Given the description of an element on the screen output the (x, y) to click on. 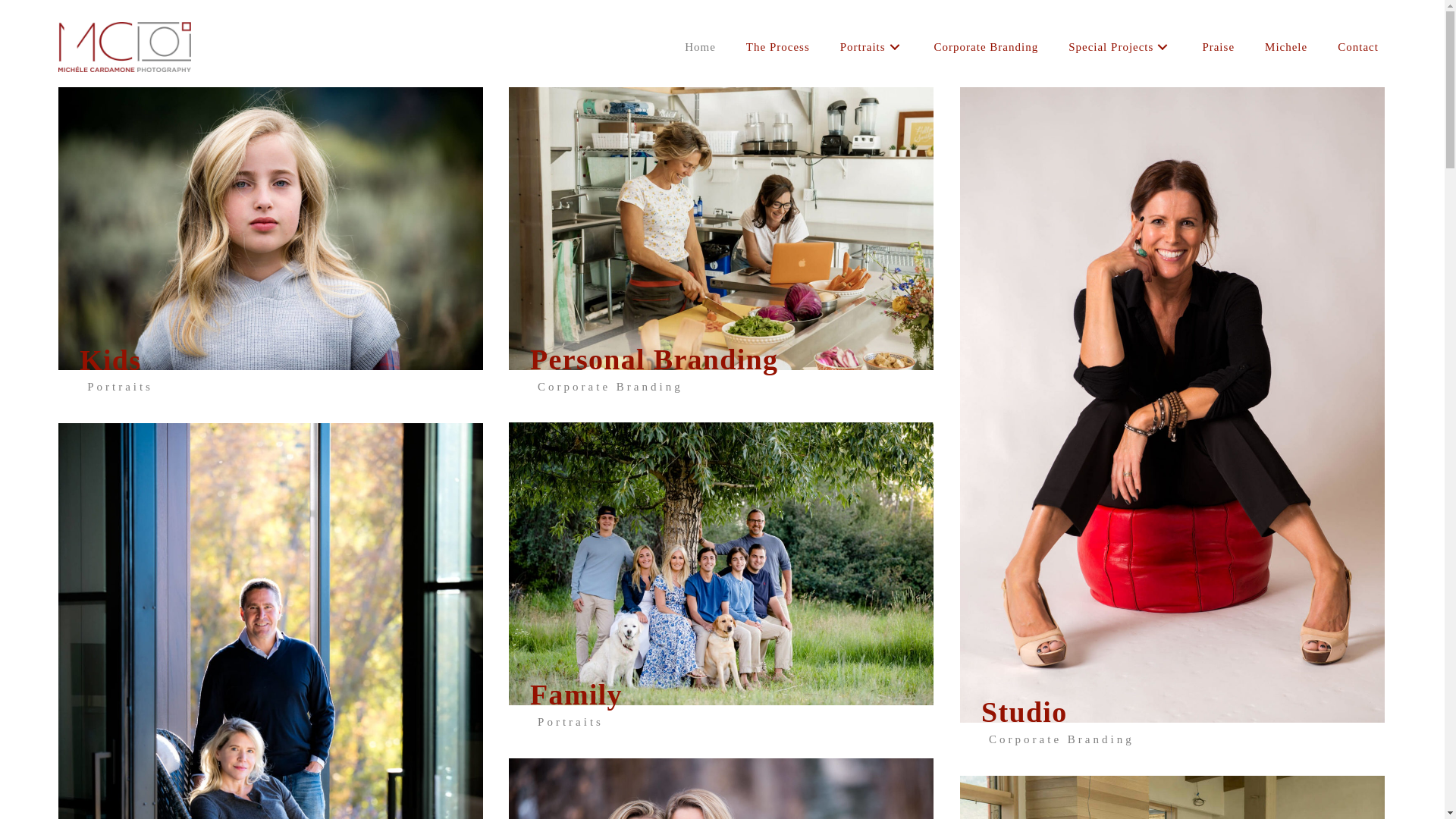
Large family portrait with dogs (720, 563)
Special Projects (1120, 46)
Praise (1217, 46)
The Process (777, 46)
Siblings (720, 788)
Home (700, 46)
Portraits (871, 46)
Michele (1285, 46)
Personal Branding (720, 228)
Contact (1358, 46)
